Given the description of an element on the screen output the (x, y) to click on. 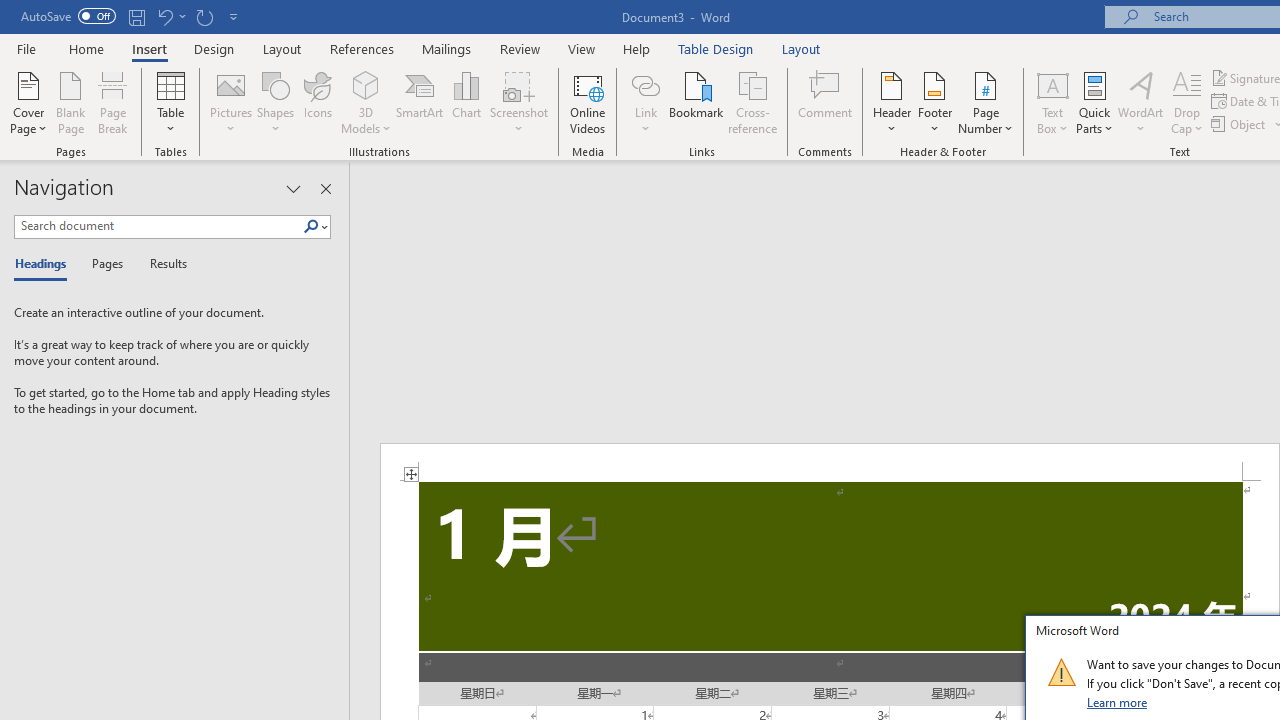
Link (645, 84)
Object... (1240, 124)
Headings (45, 264)
Search document (157, 226)
Undo Increase Indent (170, 15)
WordArt (1141, 102)
Header (891, 102)
Shapes (275, 102)
Undo Increase Indent (164, 15)
